Given the description of an element on the screen output the (x, y) to click on. 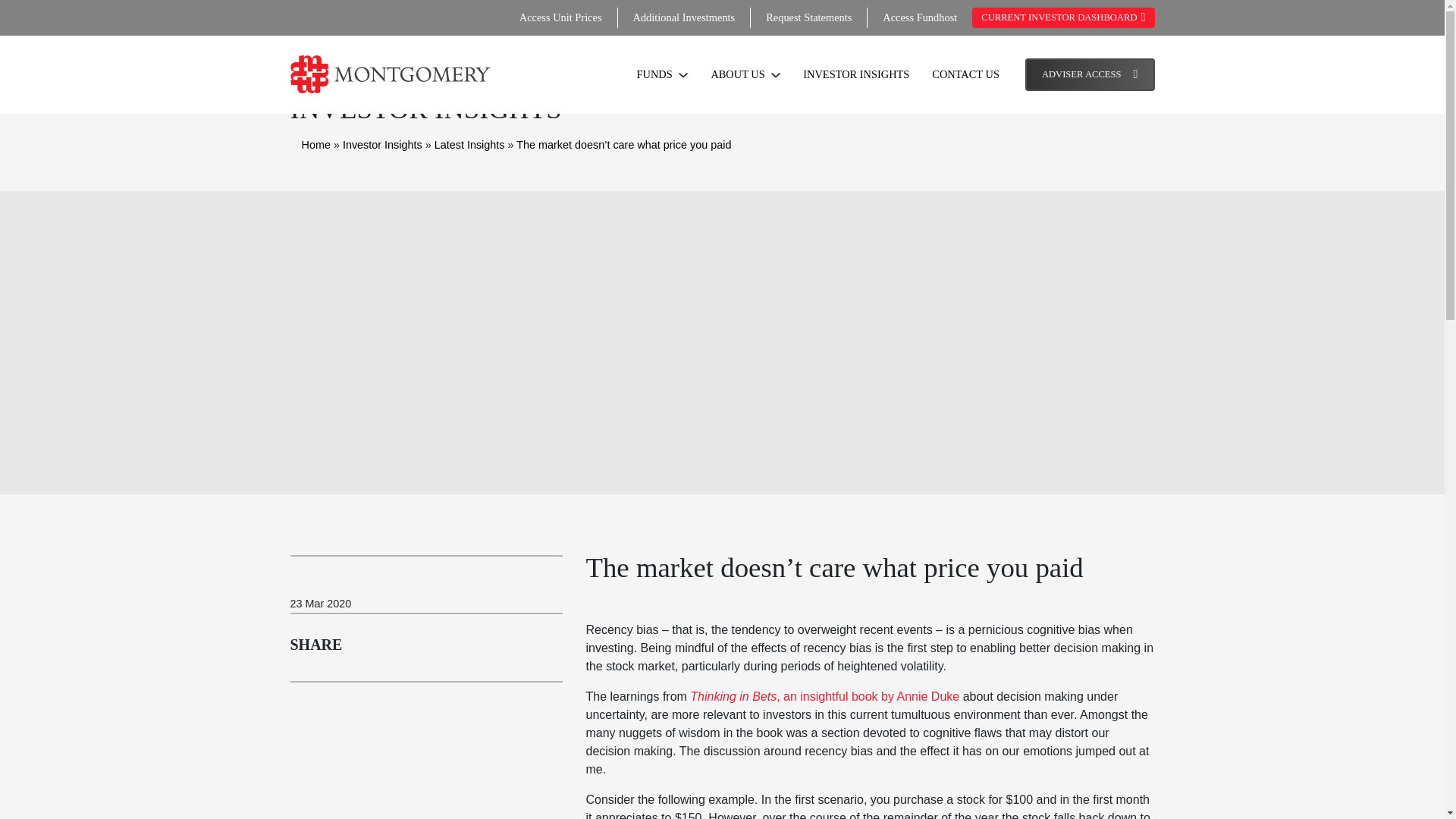
Additional Investments (683, 17)
ABOUT US (745, 74)
CURRENT INVESTOR DASHBOARD (1063, 17)
FUNDS (662, 74)
INVESTOR INSIGHTS (855, 74)
Request Statements (808, 17)
ADVISER ACCESS (1089, 74)
Access Fundhost (919, 17)
CONTACT US (964, 74)
Access Unit Prices (560, 17)
